Given the description of an element on the screen output the (x, y) to click on. 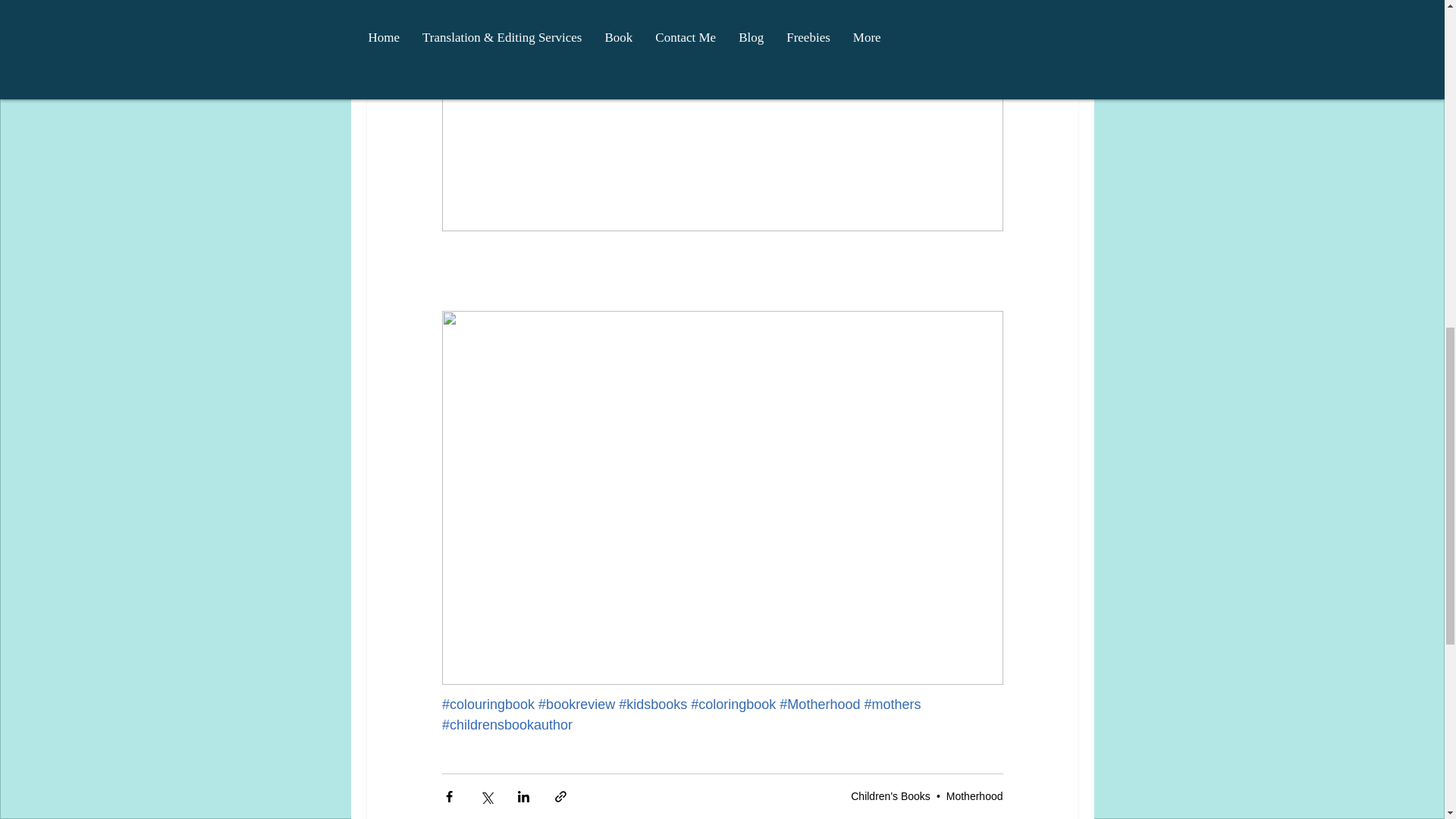
Children's Books (890, 796)
Motherhood (974, 796)
